Given the description of an element on the screen output the (x, y) to click on. 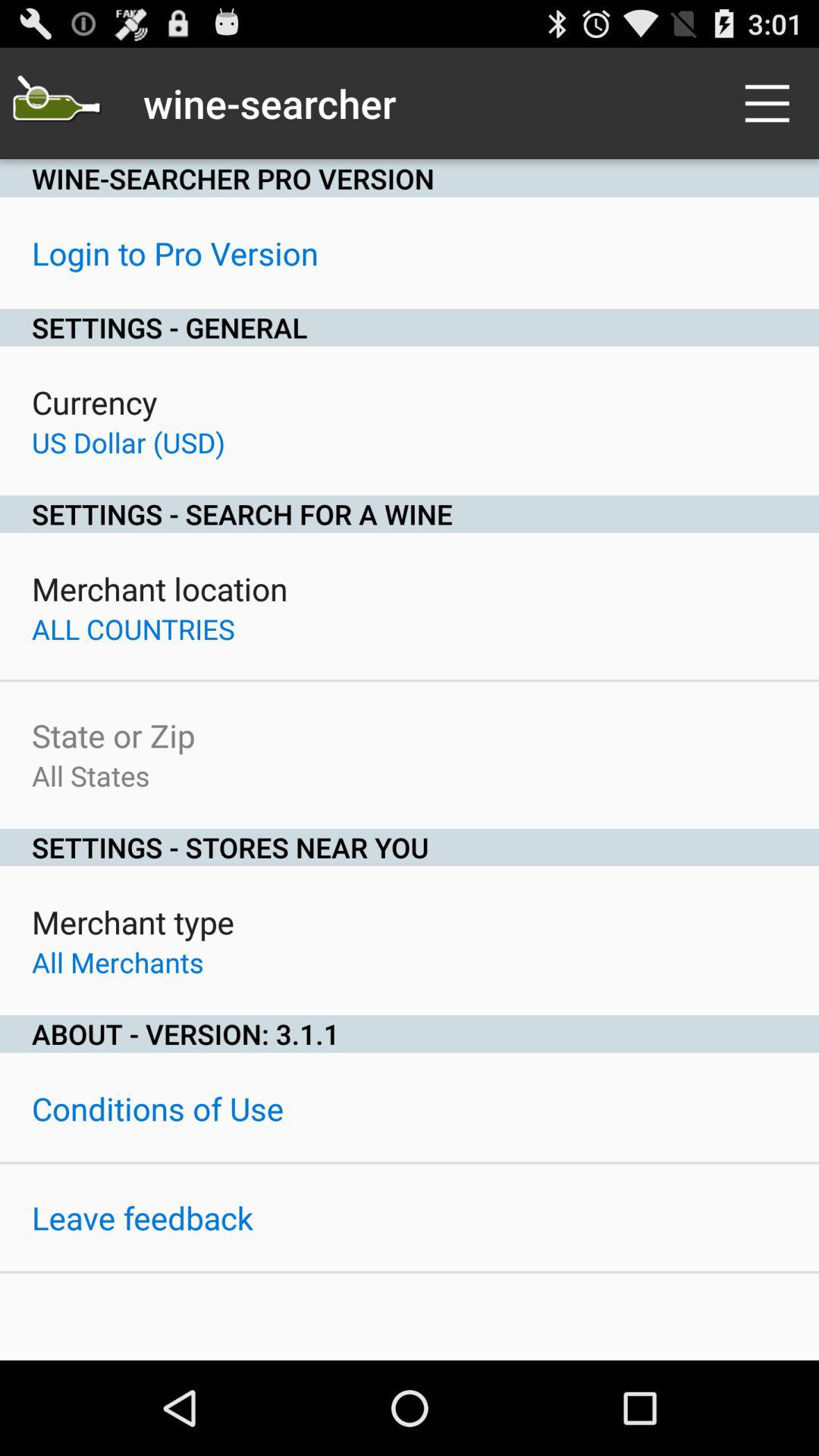
select menu icon (771, 103)
